Given the description of an element on the screen output the (x, y) to click on. 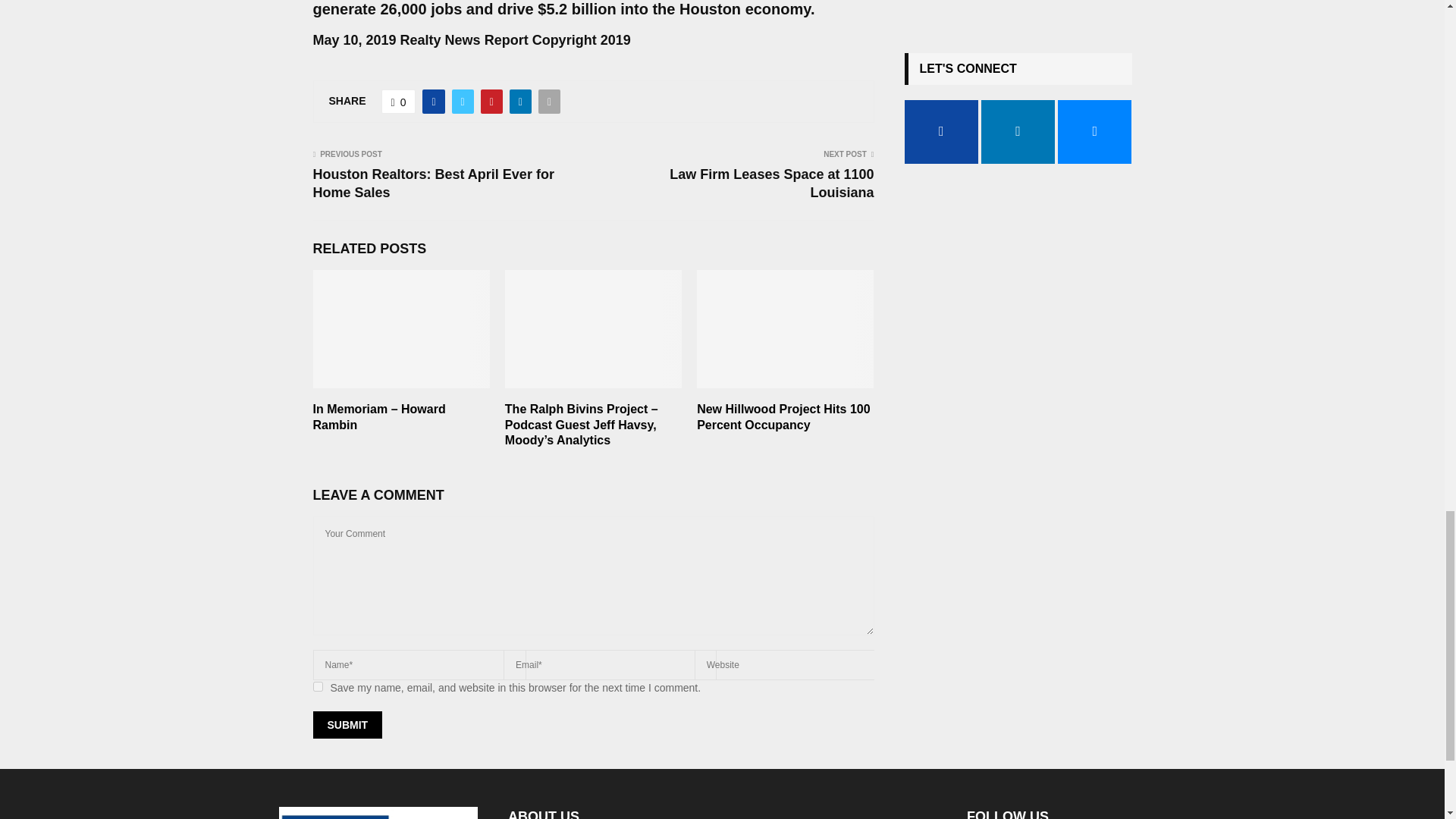
Like (398, 101)
Submit (347, 724)
yes (317, 686)
